Given the description of an element on the screen output the (x, y) to click on. 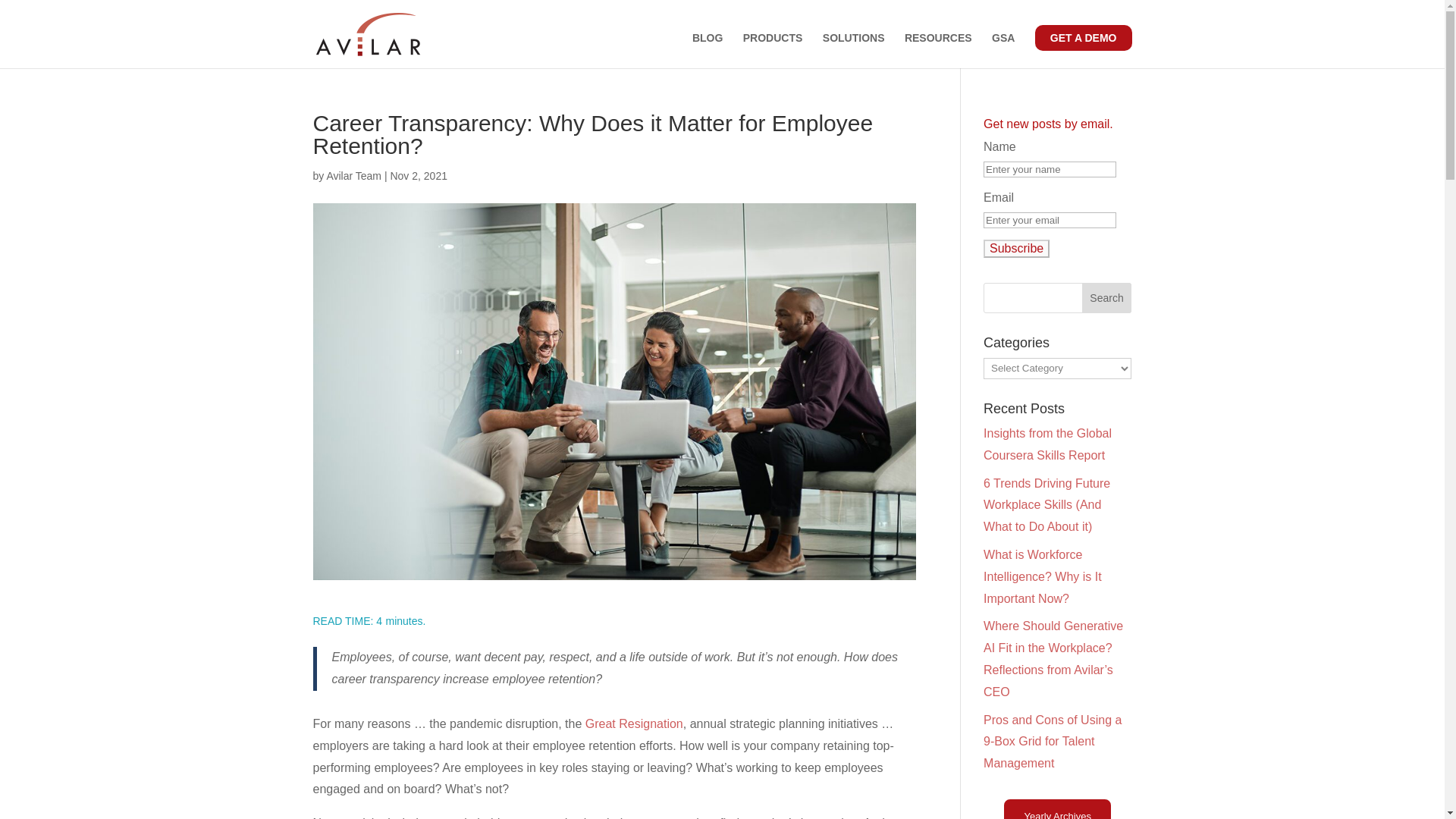
What is Workforce Intelligence? Why is It Important Now? (1043, 576)
Search (1106, 297)
SOLUTIONS (853, 49)
Great Resignation (633, 723)
RESOURCES (938, 49)
Subscribe (1016, 248)
Subscribe (1016, 248)
Search (1106, 297)
GET A DEMO (1083, 37)
PRODUCTS (772, 49)
Avilar Team (353, 175)
Posts by Avilar Team (353, 175)
Insights from the Global Coursera Skills Report (1048, 443)
